Given the description of an element on the screen output the (x, y) to click on. 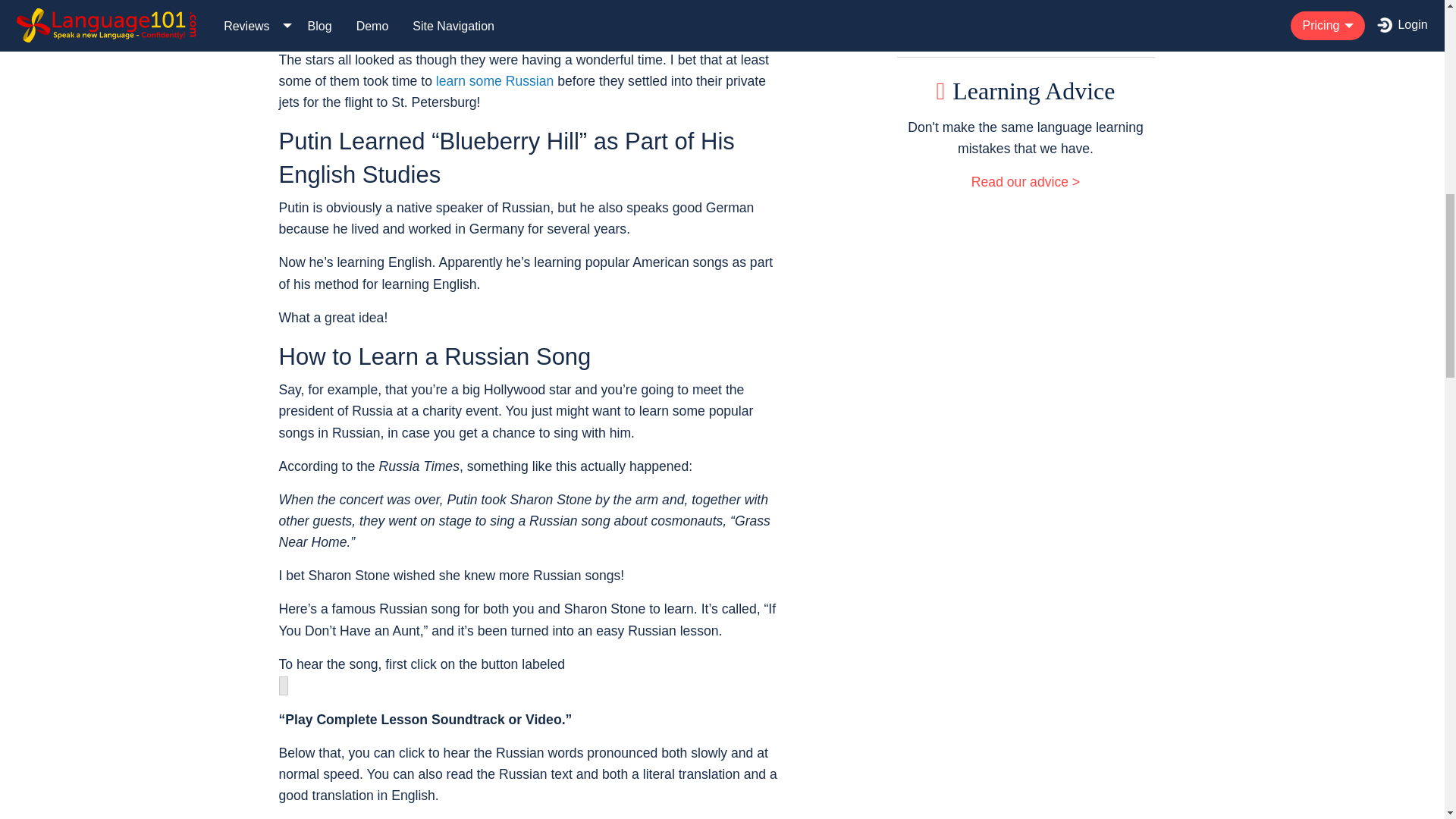
learn some Russian (494, 80)
Learn Some Russian (494, 80)
